Given the description of an element on the screen output the (x, y) to click on. 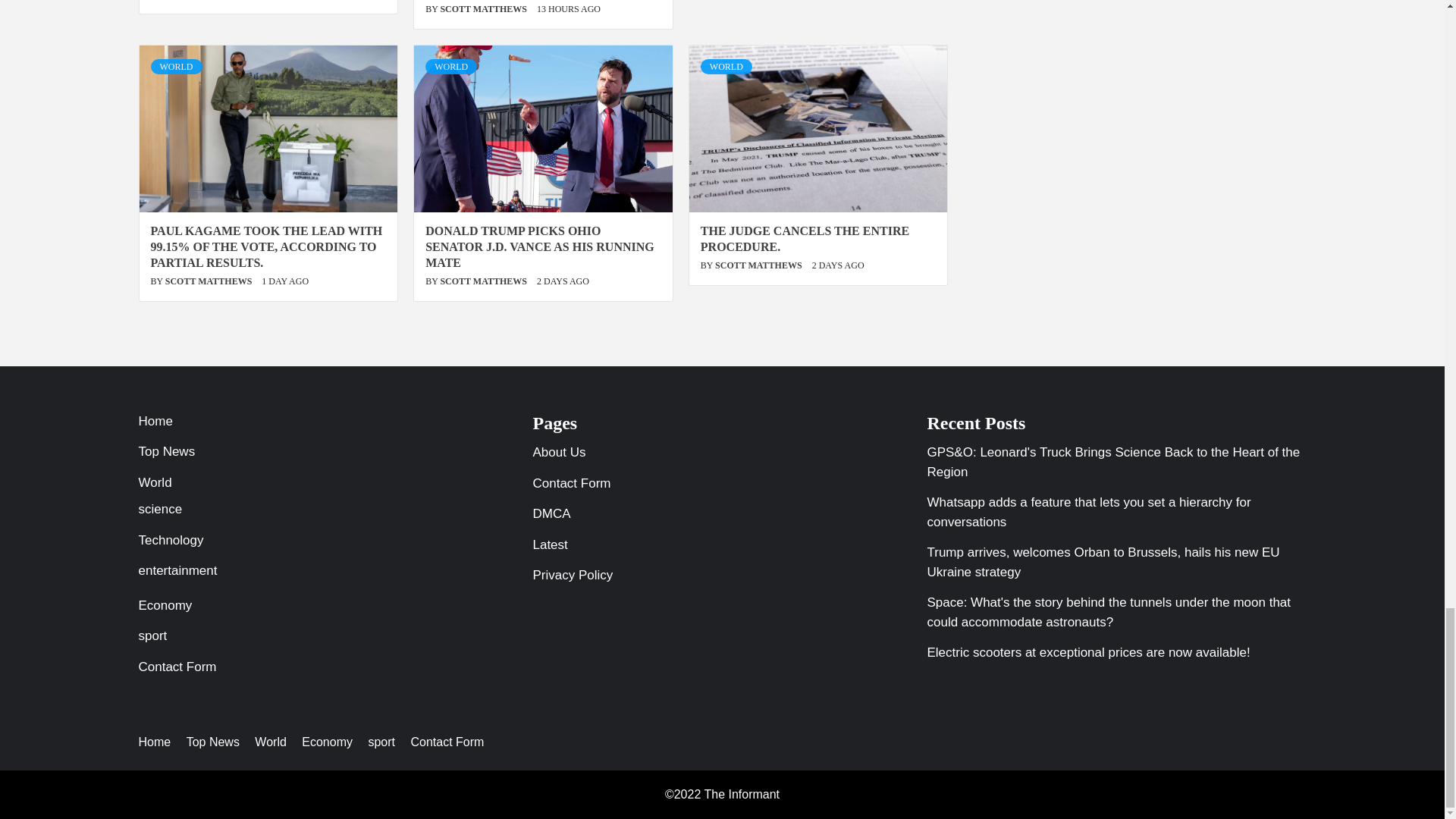
SCOTT MATTHEWS (484, 9)
